Given the description of an element on the screen output the (x, y) to click on. 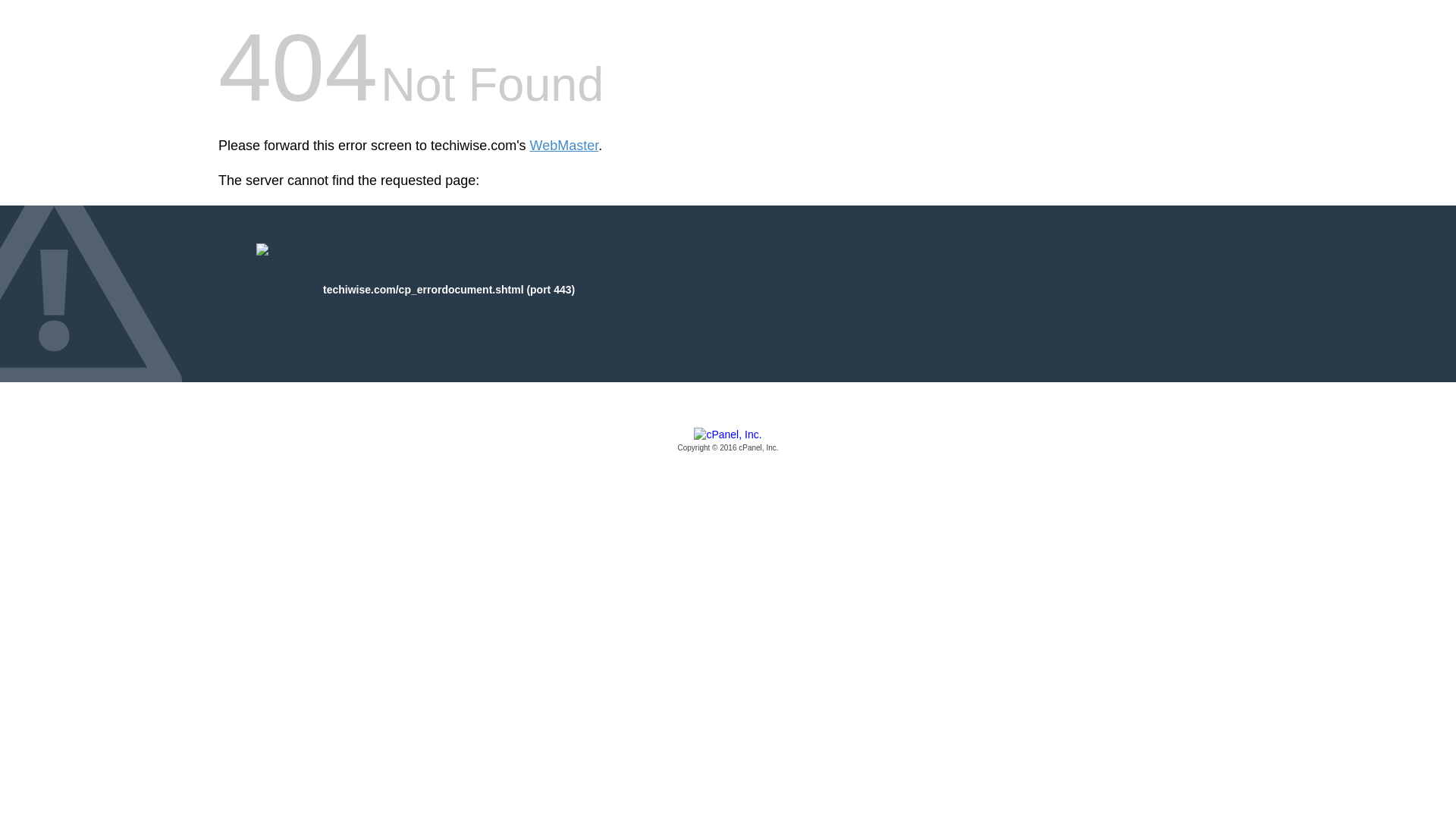
cPanel, Inc. (727, 440)
WebMaster (563, 145)
